Given the description of an element on the screen output the (x, y) to click on. 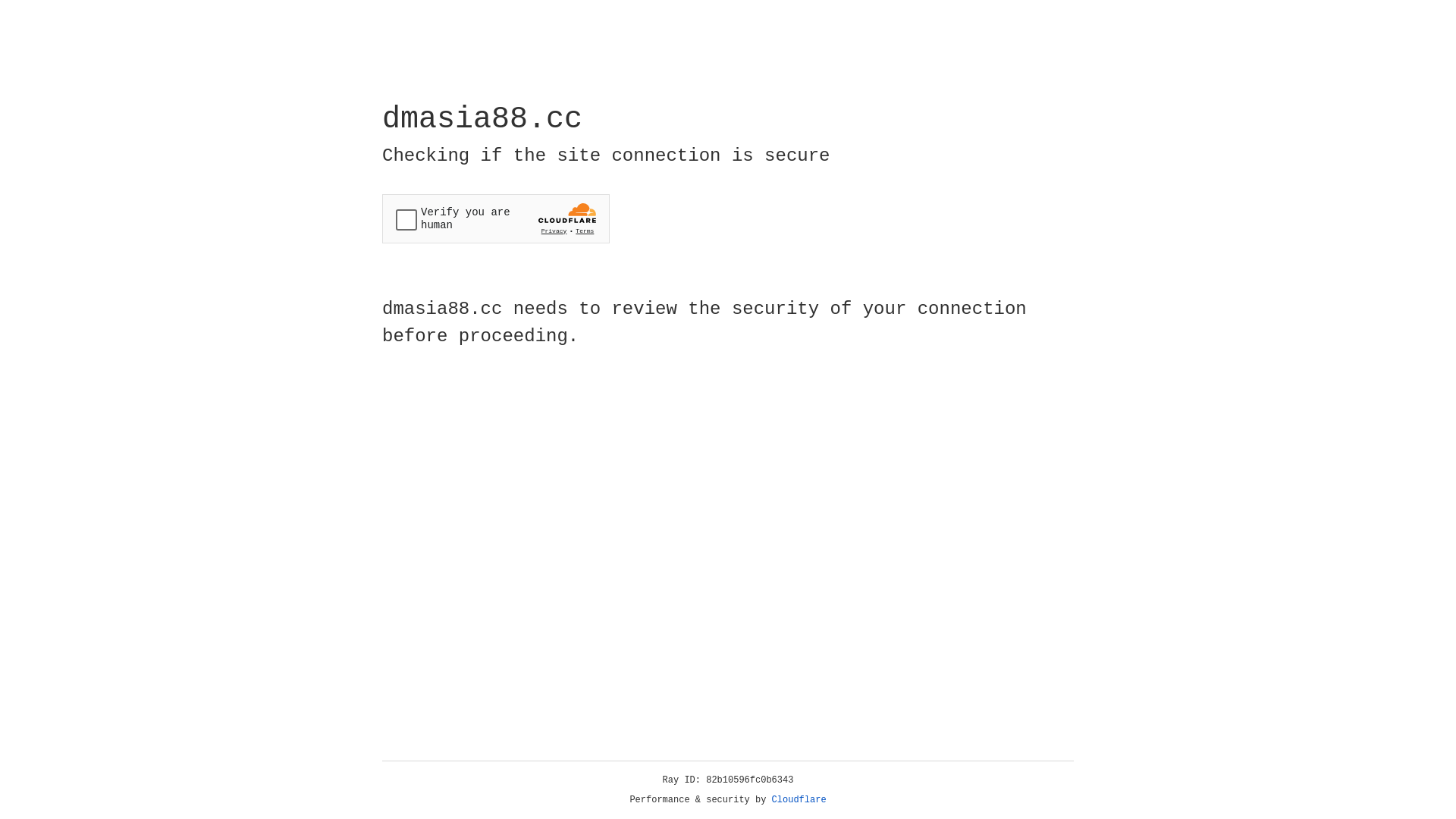
Widget containing a Cloudflare security challenge Element type: hover (495, 218)
Cloudflare Element type: text (798, 799)
